Given the description of an element on the screen output the (x, y) to click on. 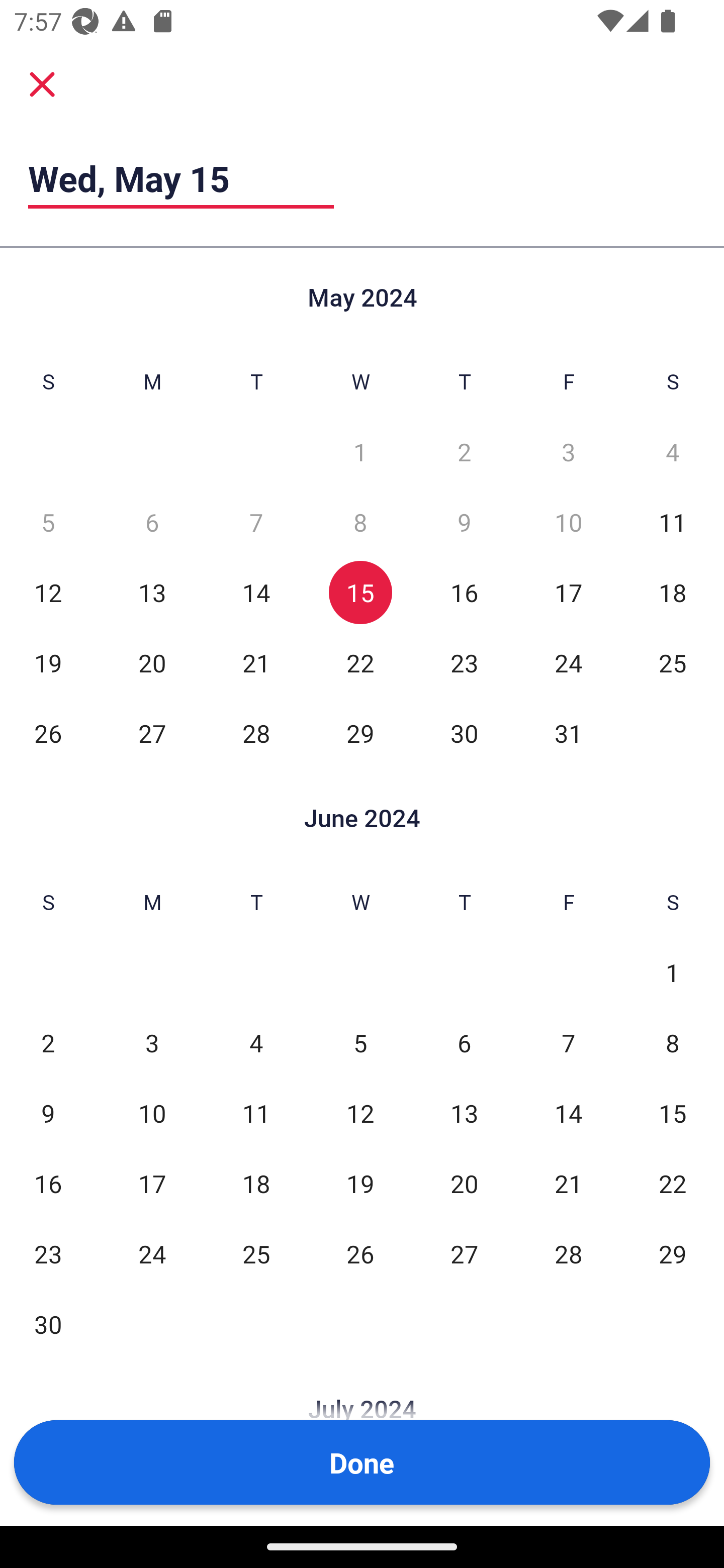
Cancel (41, 83)
Wed, May 15 (180, 178)
1 Wed, May 1, Not Selected (360, 452)
2 Thu, May 2, Not Selected (464, 452)
3 Fri, May 3, Not Selected (568, 452)
4 Sat, May 4, Not Selected (672, 452)
5 Sun, May 5, Not Selected (48, 521)
6 Mon, May 6, Not Selected (152, 521)
7 Tue, May 7, Not Selected (256, 521)
8 Wed, May 8, Not Selected (360, 521)
9 Thu, May 9, Not Selected (464, 521)
10 Fri, May 10, Not Selected (568, 521)
11 Sat, May 11, Not Selected (672, 521)
12 Sun, May 12, Not Selected (48, 591)
13 Mon, May 13, Not Selected (152, 591)
14 Tue, May 14, Not Selected (256, 591)
15 Wed, May 15, Selected (360, 591)
16 Thu, May 16, Not Selected (464, 591)
17 Fri, May 17, Not Selected (568, 591)
18 Sat, May 18, Not Selected (672, 591)
19 Sun, May 19, Not Selected (48, 662)
20 Mon, May 20, Not Selected (152, 662)
21 Tue, May 21, Not Selected (256, 662)
22 Wed, May 22, Not Selected (360, 662)
23 Thu, May 23, Not Selected (464, 662)
24 Fri, May 24, Not Selected (568, 662)
25 Sat, May 25, Not Selected (672, 662)
26 Sun, May 26, Not Selected (48, 732)
27 Mon, May 27, Not Selected (152, 732)
28 Tue, May 28, Not Selected (256, 732)
29 Wed, May 29, Not Selected (360, 732)
30 Thu, May 30, Not Selected (464, 732)
31 Fri, May 31, Not Selected (568, 732)
1 Sat, Jun 1, Not Selected (672, 972)
2 Sun, Jun 2, Not Selected (48, 1043)
3 Mon, Jun 3, Not Selected (152, 1043)
4 Tue, Jun 4, Not Selected (256, 1043)
5 Wed, Jun 5, Not Selected (360, 1043)
6 Thu, Jun 6, Not Selected (464, 1043)
7 Fri, Jun 7, Not Selected (568, 1043)
8 Sat, Jun 8, Not Selected (672, 1043)
9 Sun, Jun 9, Not Selected (48, 1112)
10 Mon, Jun 10, Not Selected (152, 1112)
11 Tue, Jun 11, Not Selected (256, 1112)
12 Wed, Jun 12, Not Selected (360, 1112)
13 Thu, Jun 13, Not Selected (464, 1112)
14 Fri, Jun 14, Not Selected (568, 1112)
15 Sat, Jun 15, Not Selected (672, 1112)
16 Sun, Jun 16, Not Selected (48, 1182)
17 Mon, Jun 17, Not Selected (152, 1182)
18 Tue, Jun 18, Not Selected (256, 1182)
19 Wed, Jun 19, Not Selected (360, 1182)
20 Thu, Jun 20, Not Selected (464, 1182)
21 Fri, Jun 21, Not Selected (568, 1182)
22 Sat, Jun 22, Not Selected (672, 1182)
23 Sun, Jun 23, Not Selected (48, 1253)
24 Mon, Jun 24, Not Selected (152, 1253)
25 Tue, Jun 25, Not Selected (256, 1253)
26 Wed, Jun 26, Not Selected (360, 1253)
27 Thu, Jun 27, Not Selected (464, 1253)
28 Fri, Jun 28, Not Selected (568, 1253)
29 Sat, Jun 29, Not Selected (672, 1253)
30 Sun, Jun 30, Not Selected (48, 1323)
Done Button Done (361, 1462)
